Given the description of an element on the screen output the (x, y) to click on. 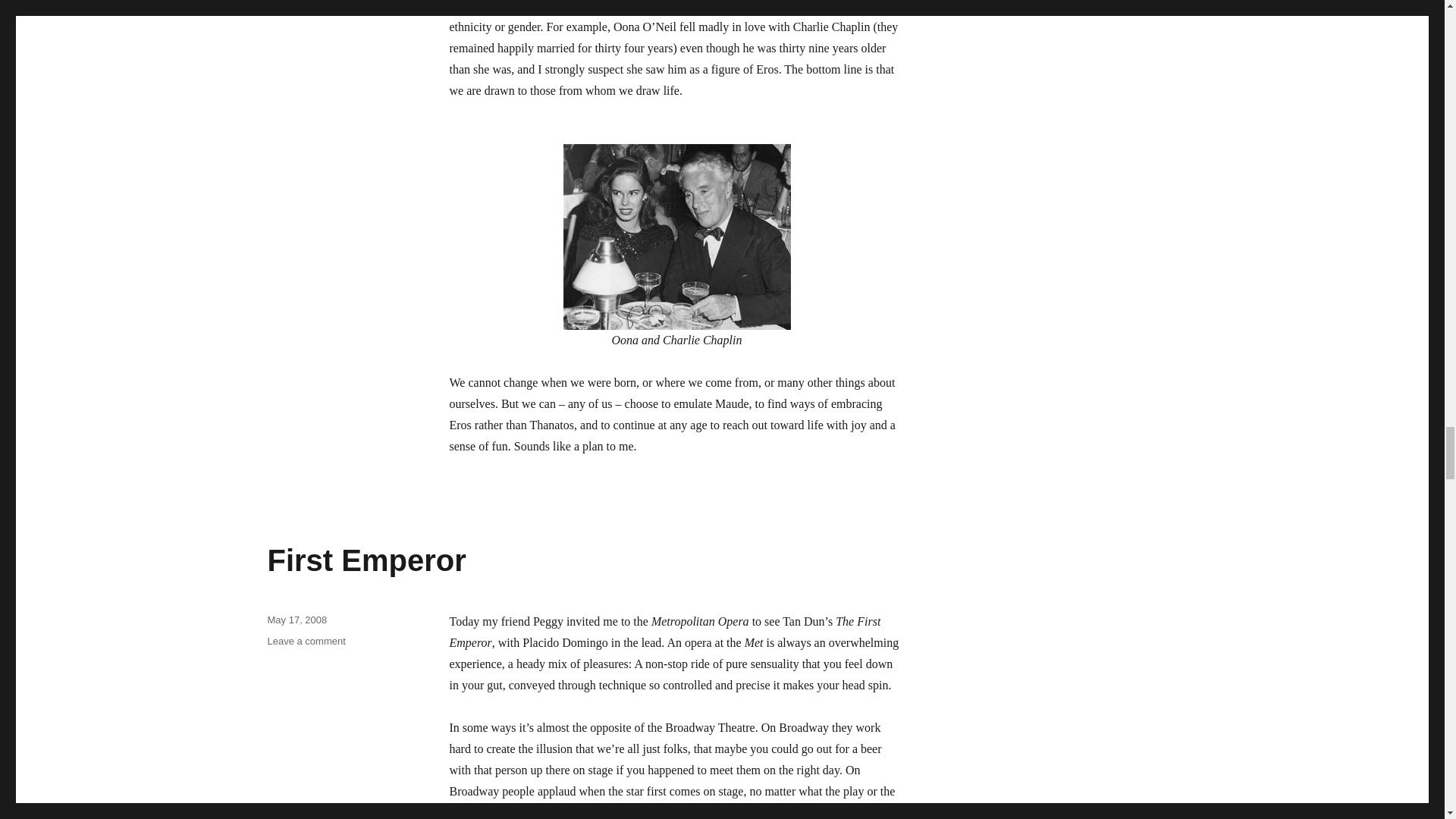
First Emperor (305, 641)
May 17, 2008 (365, 560)
